Given the description of an element on the screen output the (x, y) to click on. 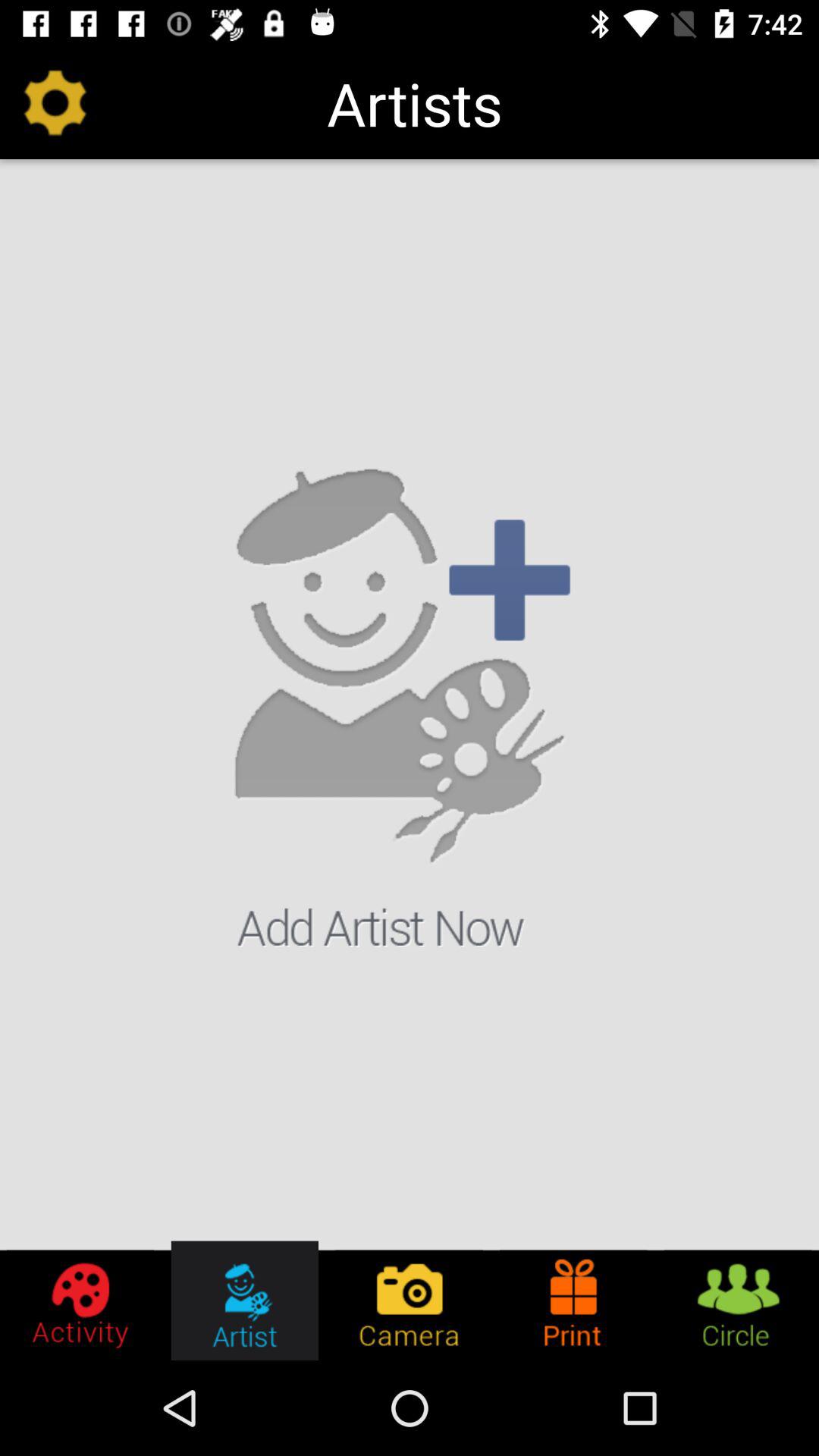
choose icon next to the artists icon (55, 103)
